Given the description of an element on the screen output the (x, y) to click on. 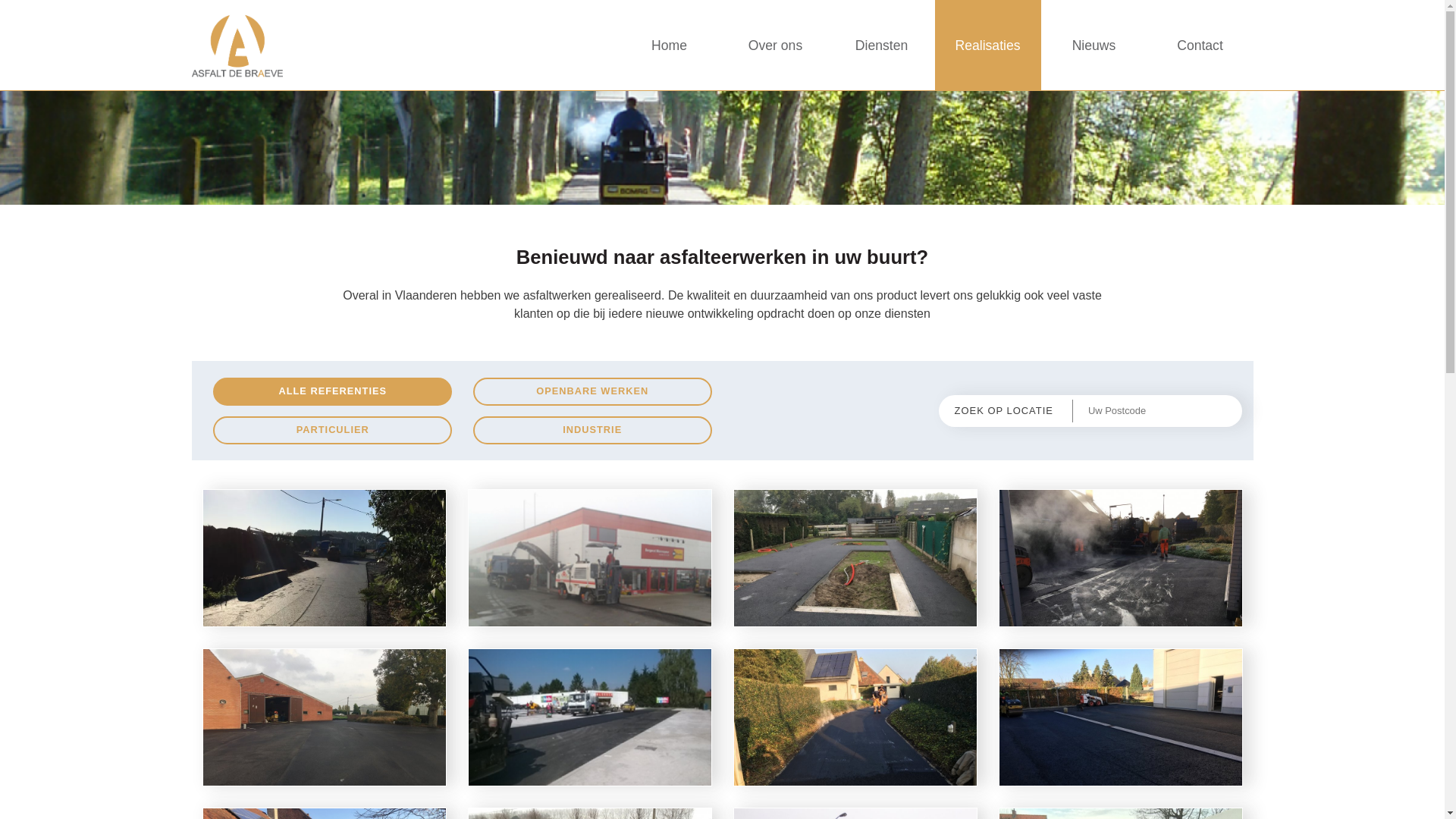
Contact Element type: text (1199, 45)
OPENBARE WERKEN Element type: text (592, 391)
ALLE REFERENTIES Element type: text (332, 391)
Home Element type: text (668, 45)
Nieuws Element type: text (1093, 45)
Realisaties Element type: text (987, 45)
Over ons Element type: text (774, 45)
Diensten Element type: text (881, 45)
INDUSTRIE Element type: text (592, 430)
PARTICULIER Element type: text (332, 430)
